Given the description of an element on the screen output the (x, y) to click on. 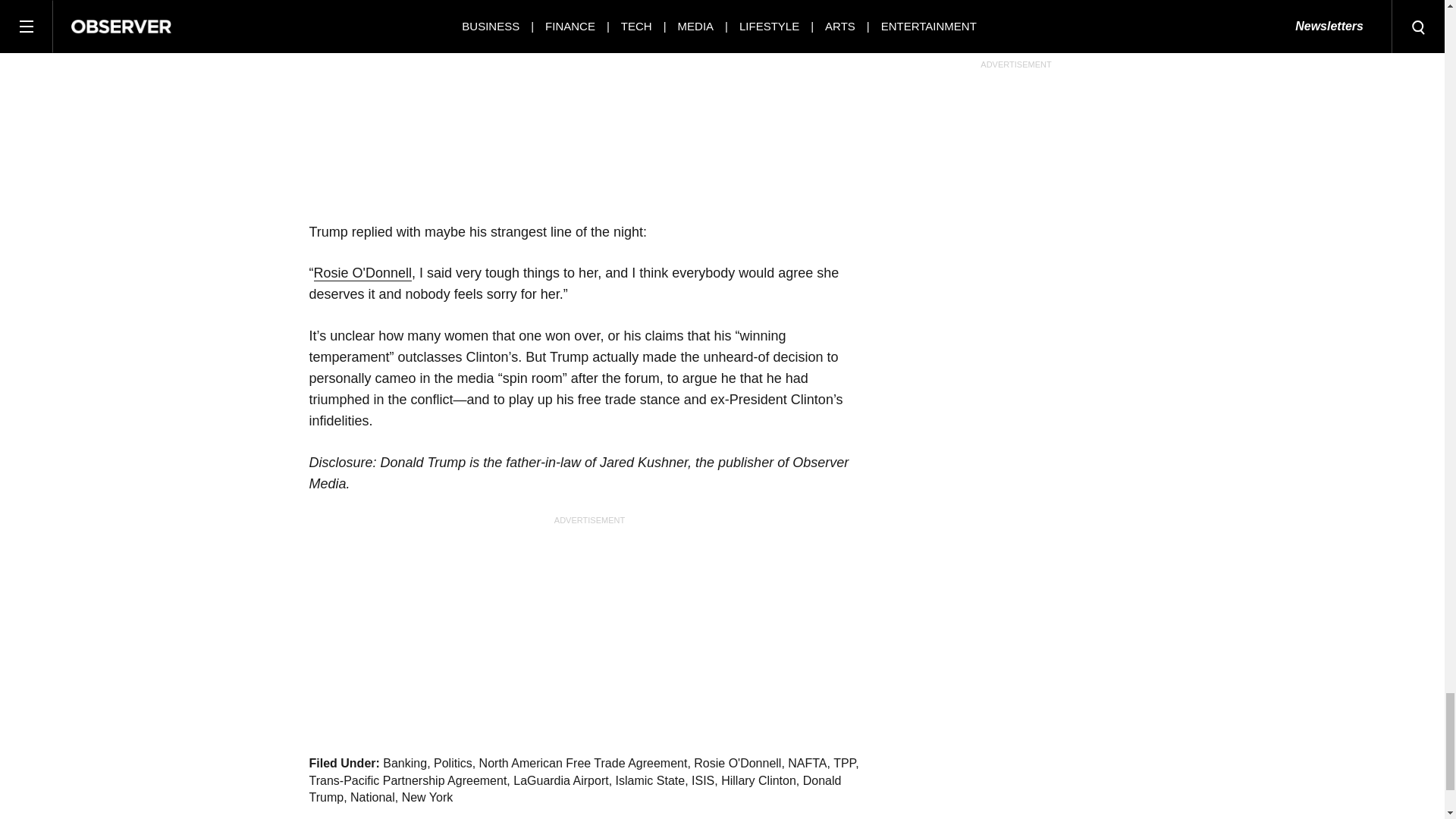
Rosie O'Donnell (363, 273)
